Given the description of an element on the screen output the (x, y) to click on. 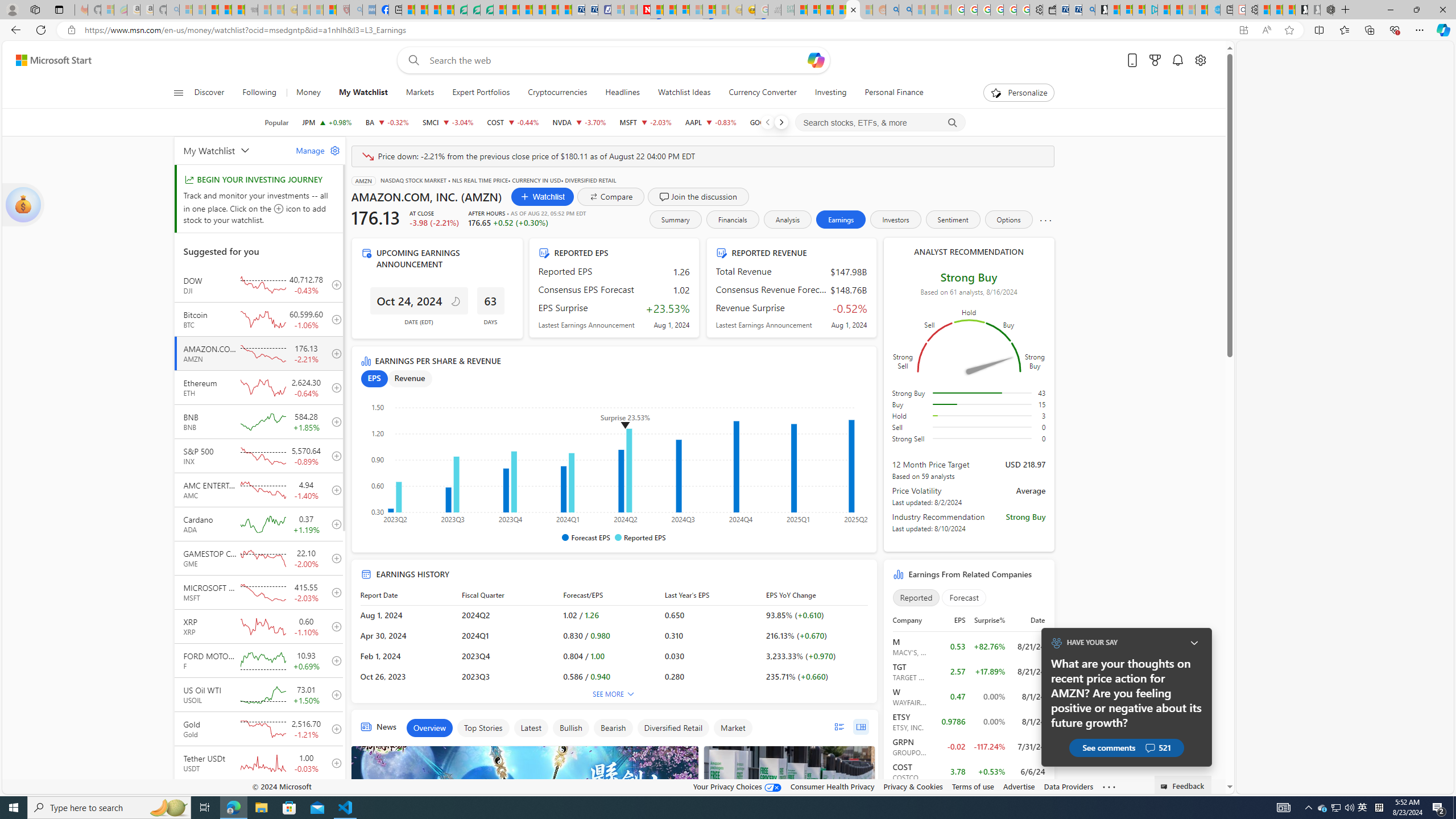
Manage (312, 150)
Terms of use (973, 786)
Reported (916, 597)
Web search (411, 60)
EPS (374, 378)
Search stocks, ETFs, & more (880, 122)
Money (307, 92)
Recipes - MSN - Sleeping (303, 9)
Microsoft-Report a Concern to Bing - Sleeping (107, 9)
New Report Confirms 2023 Was Record Hot | Watch (237, 9)
